Given the description of an element on the screen output the (x, y) to click on. 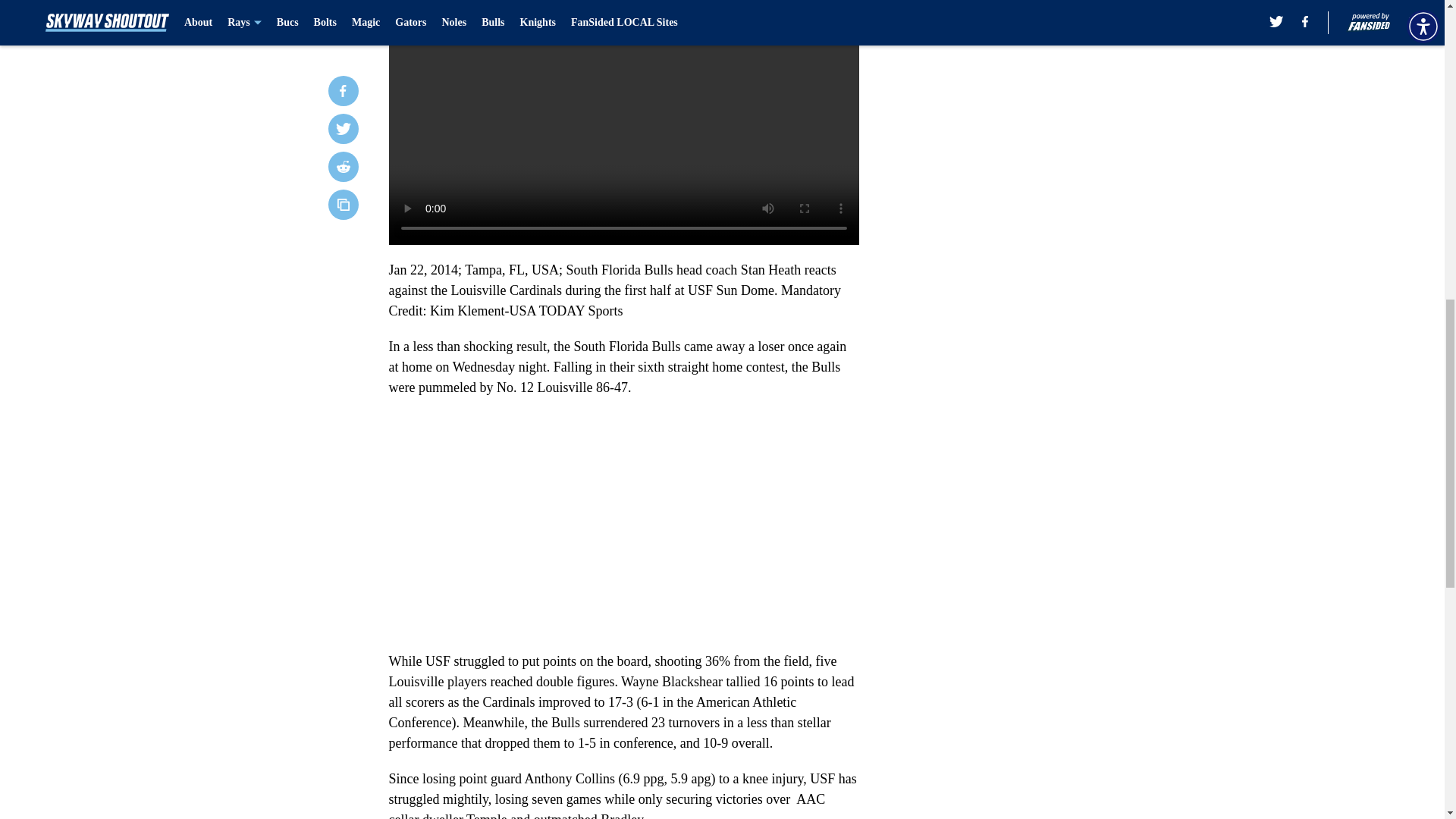
3rd party ad content (1047, 294)
3rd party ad content (1047, 84)
